Given the description of an element on the screen output the (x, y) to click on. 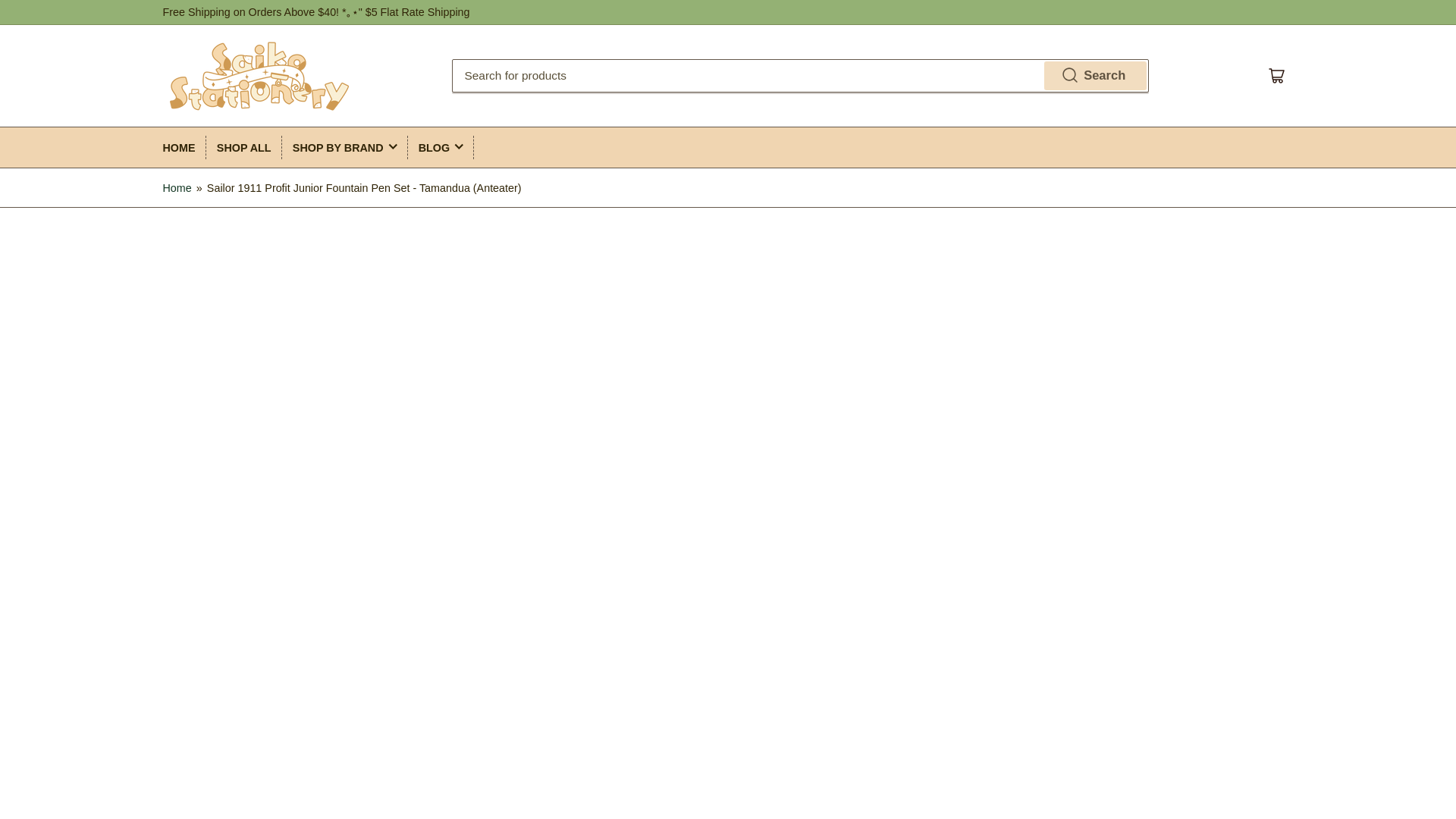
Open mini cart (1277, 75)
Search (1095, 75)
